Given the description of an element on the screen output the (x, y) to click on. 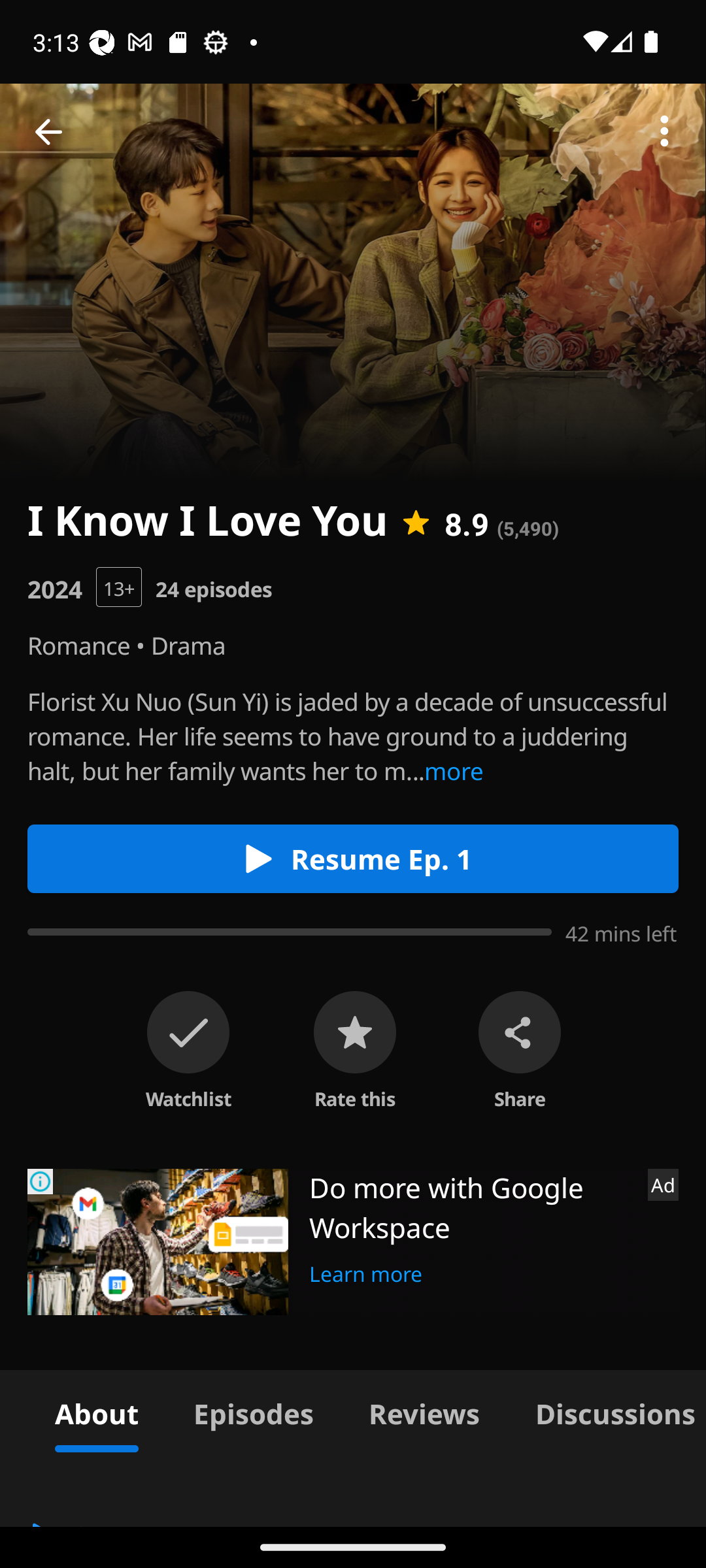
More (664, 131)
on (187, 1032)
Ad Choices Icon (39, 1181)
Do more with Google Workspace (471, 1207)
Learn more (365, 1271)
Episodes (252, 1410)
Reviews (423, 1410)
Discussions (606, 1410)
